Given the description of an element on the screen output the (x, y) to click on. 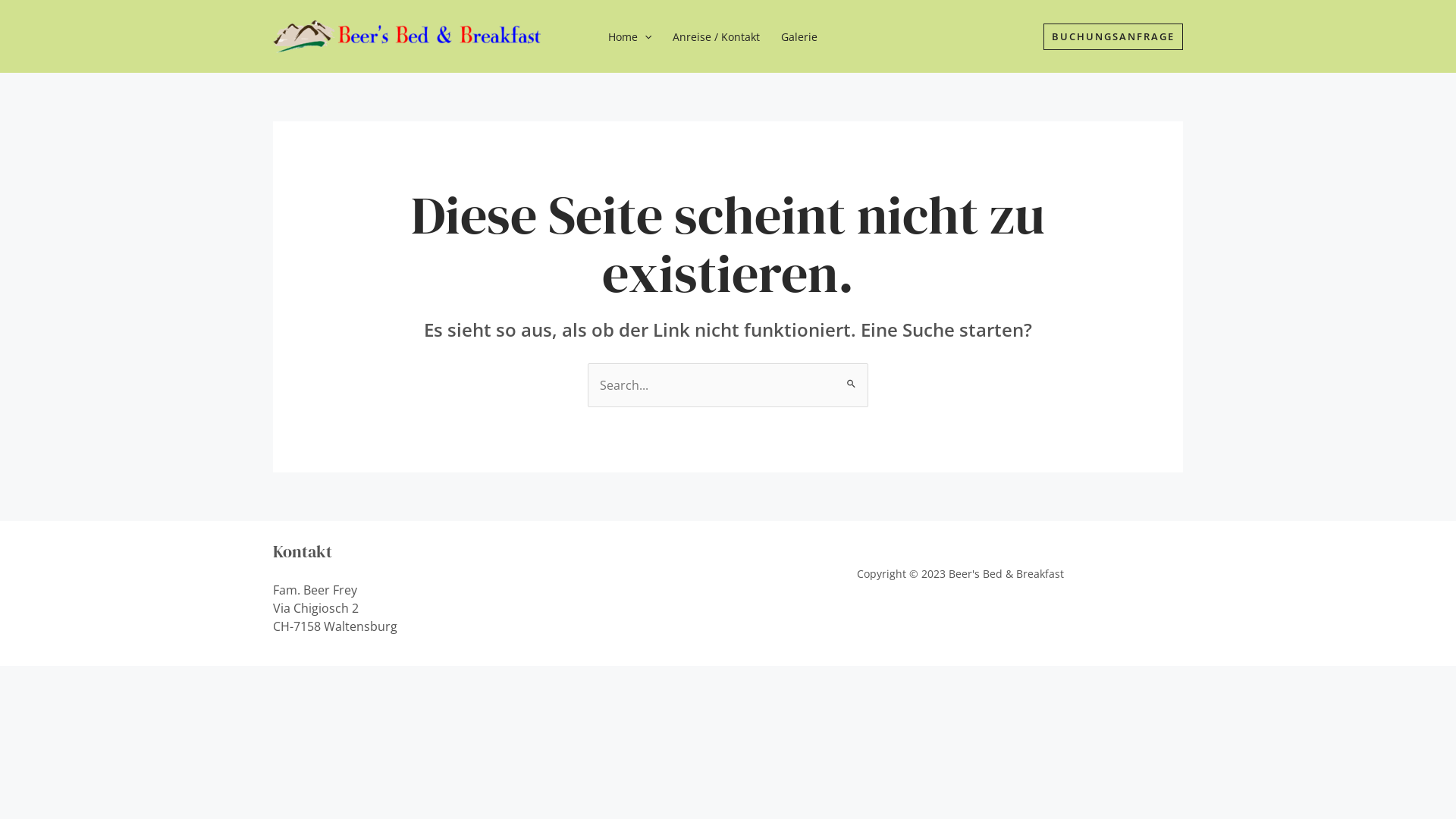
Home Element type: text (629, 37)
Suche Element type: text (851, 377)
Galerie Element type: text (799, 37)
BUCHUNGSANFRAGE Element type: text (1113, 35)
Anreise / Kontakt Element type: text (716, 37)
